Given the description of an element on the screen output the (x, y) to click on. 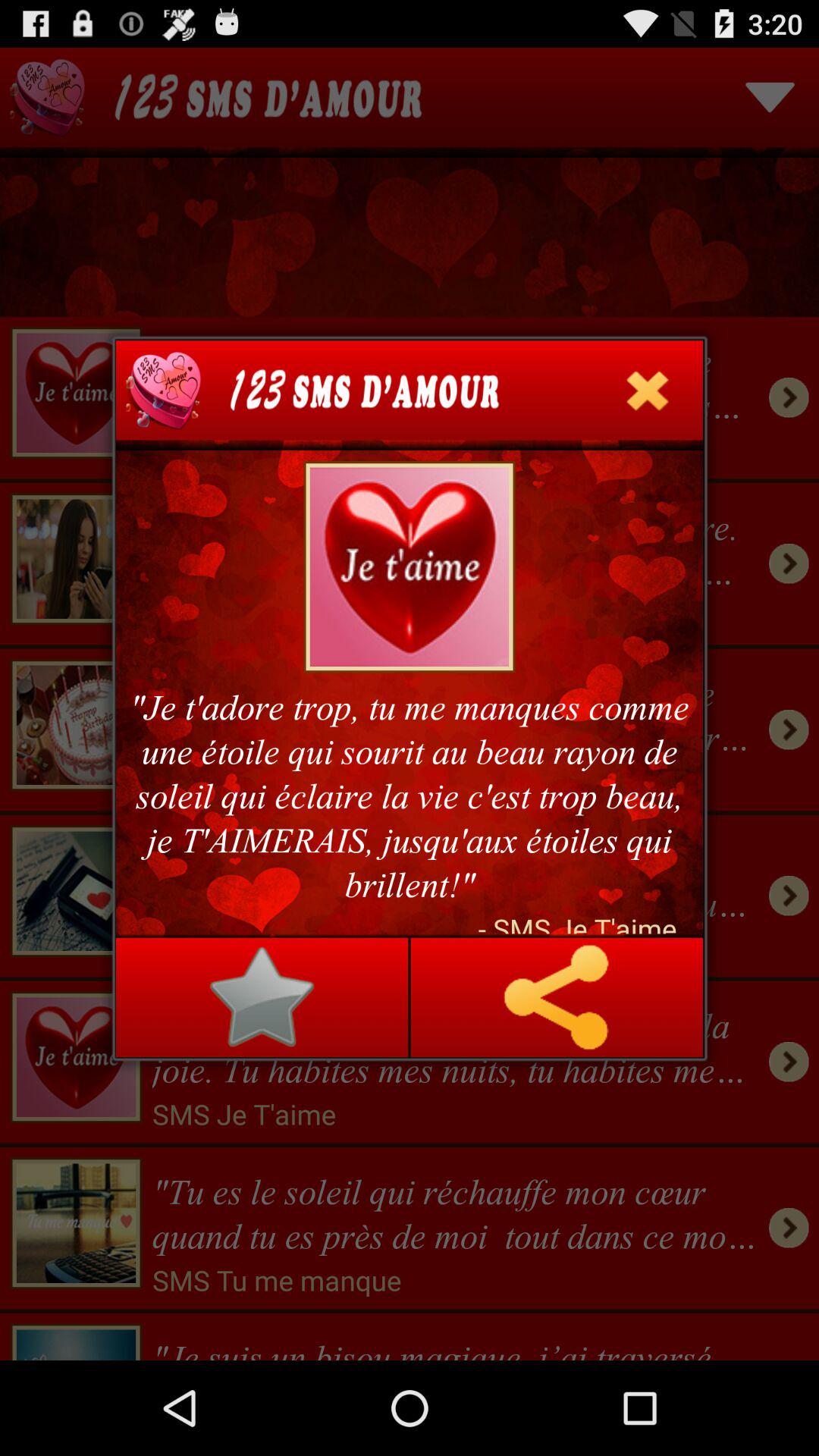
select icon at the bottom left corner (261, 997)
